Given the description of an element on the screen output the (x, y) to click on. 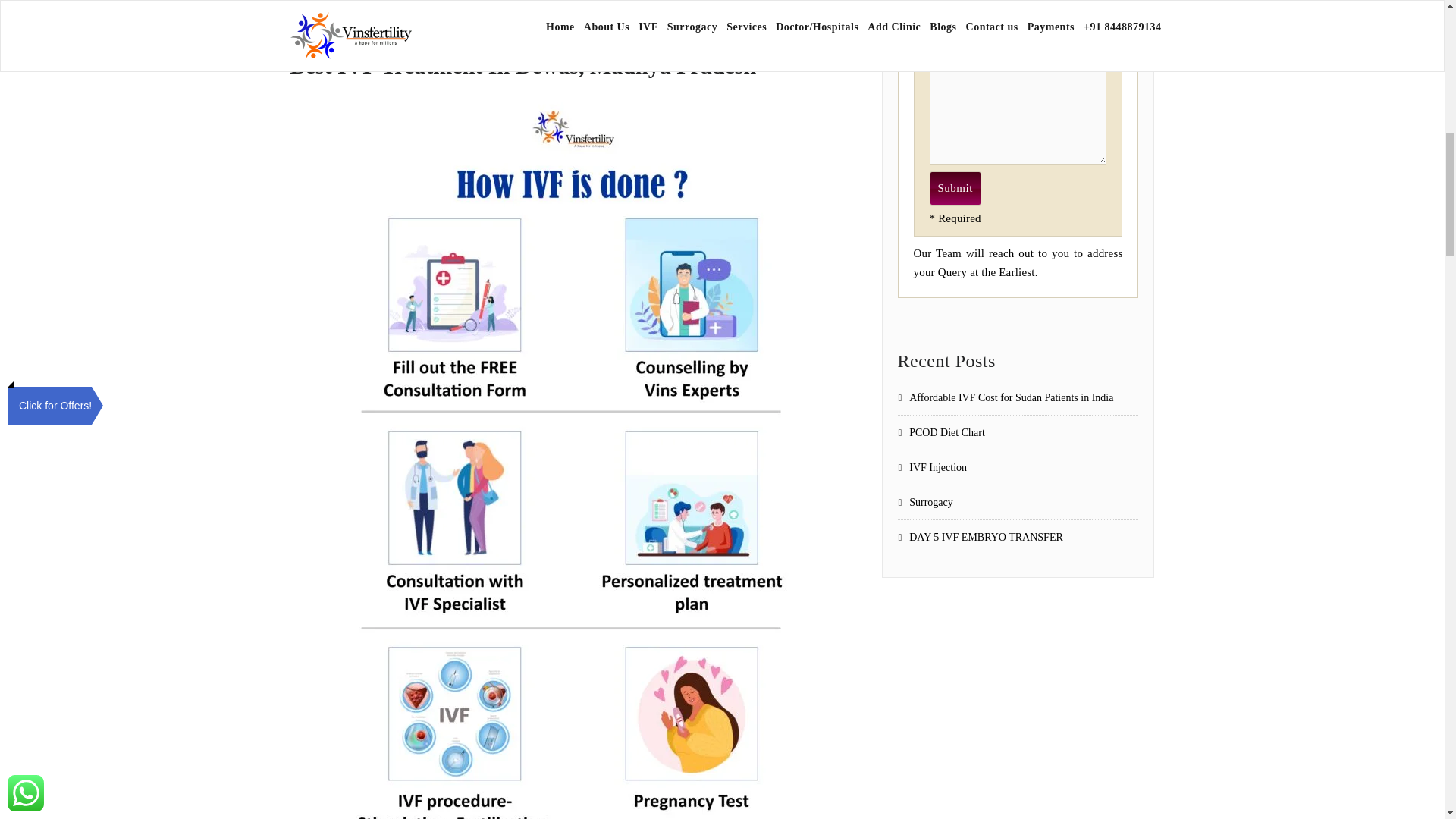
Others (935, 37)
Submit (955, 188)
IVF (935, 7)
Surrogacy (935, 22)
